Given the description of an element on the screen output the (x, y) to click on. 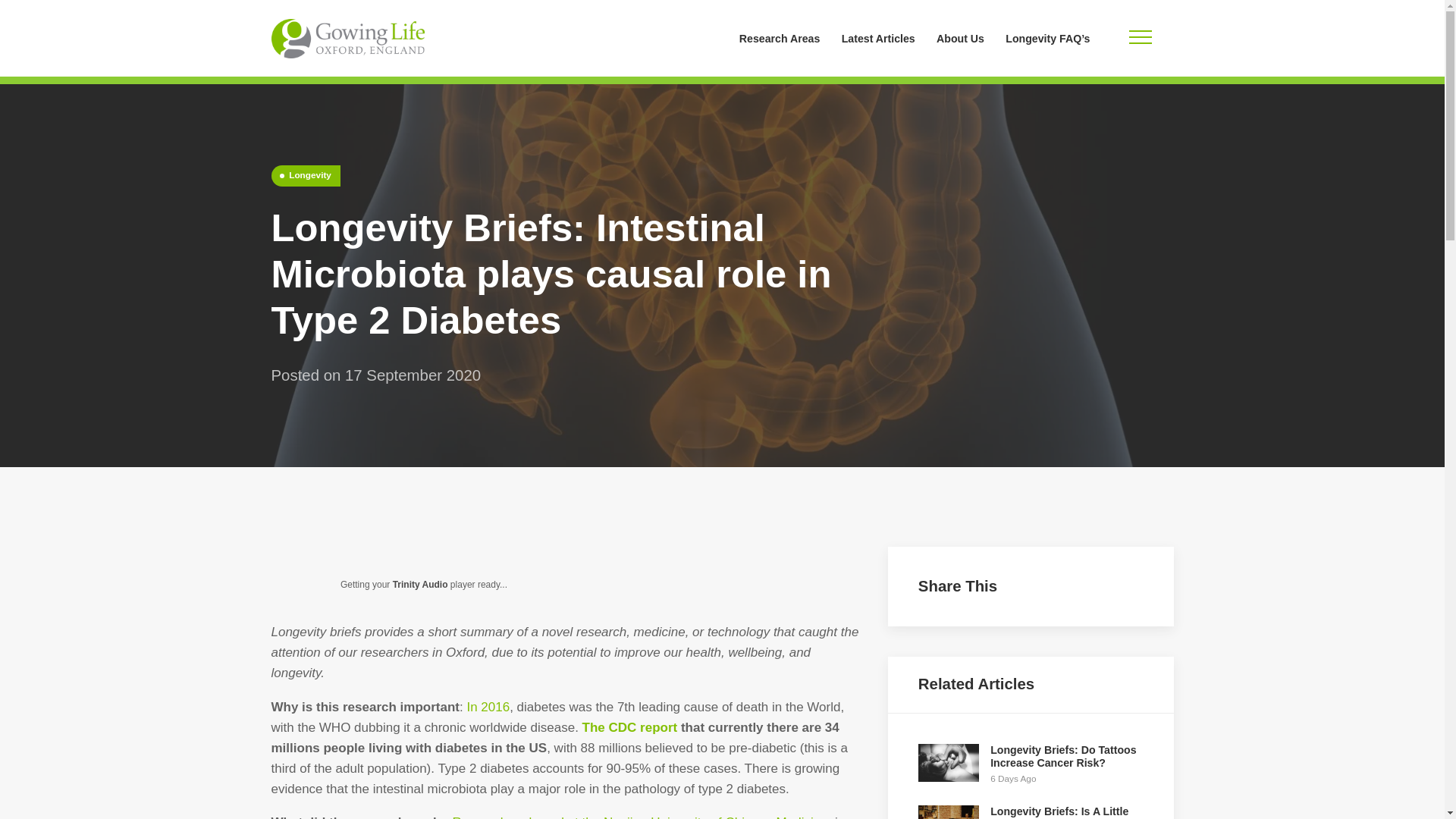
In 2016 (487, 707)
About Us (960, 38)
Longevity (305, 175)
Open Navigation Menu (1139, 38)
Trinity Audio (420, 584)
Latest Articles (877, 38)
The CDC report (630, 727)
Research Areas (779, 38)
